Given the description of an element on the screen output the (x, y) to click on. 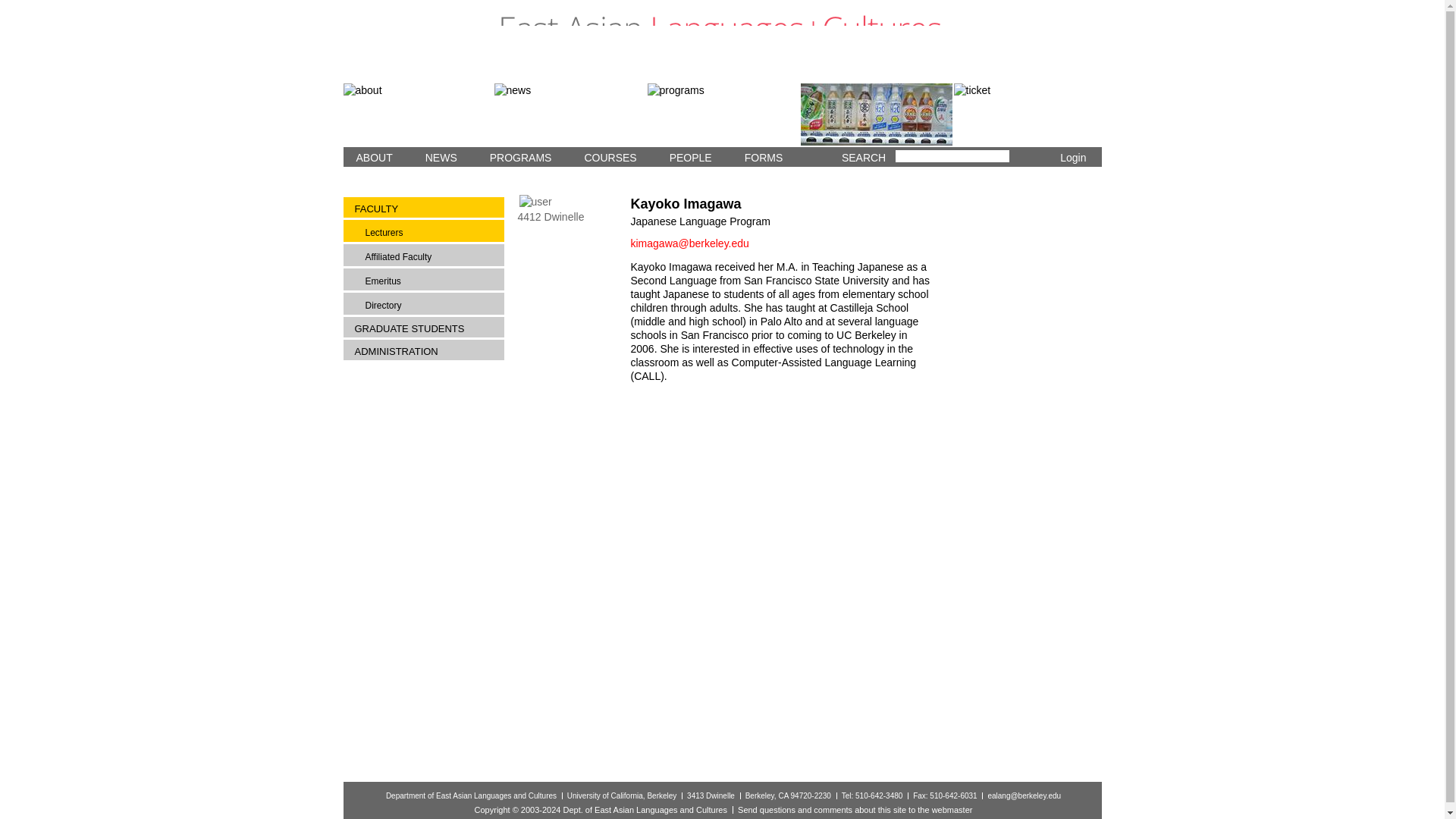
about (417, 114)
courses (876, 114)
FACULTY (422, 208)
Search (1019, 157)
PEOPLE (686, 157)
FORMS (760, 157)
Directory (429, 304)
Login (1072, 157)
Search (1019, 157)
Affiliated Faculty (429, 256)
user (534, 201)
ticket (1027, 114)
programs (723, 114)
NEWS (437, 157)
Enter the terms you wish to search for. (952, 155)
